Given the description of an element on the screen output the (x, y) to click on. 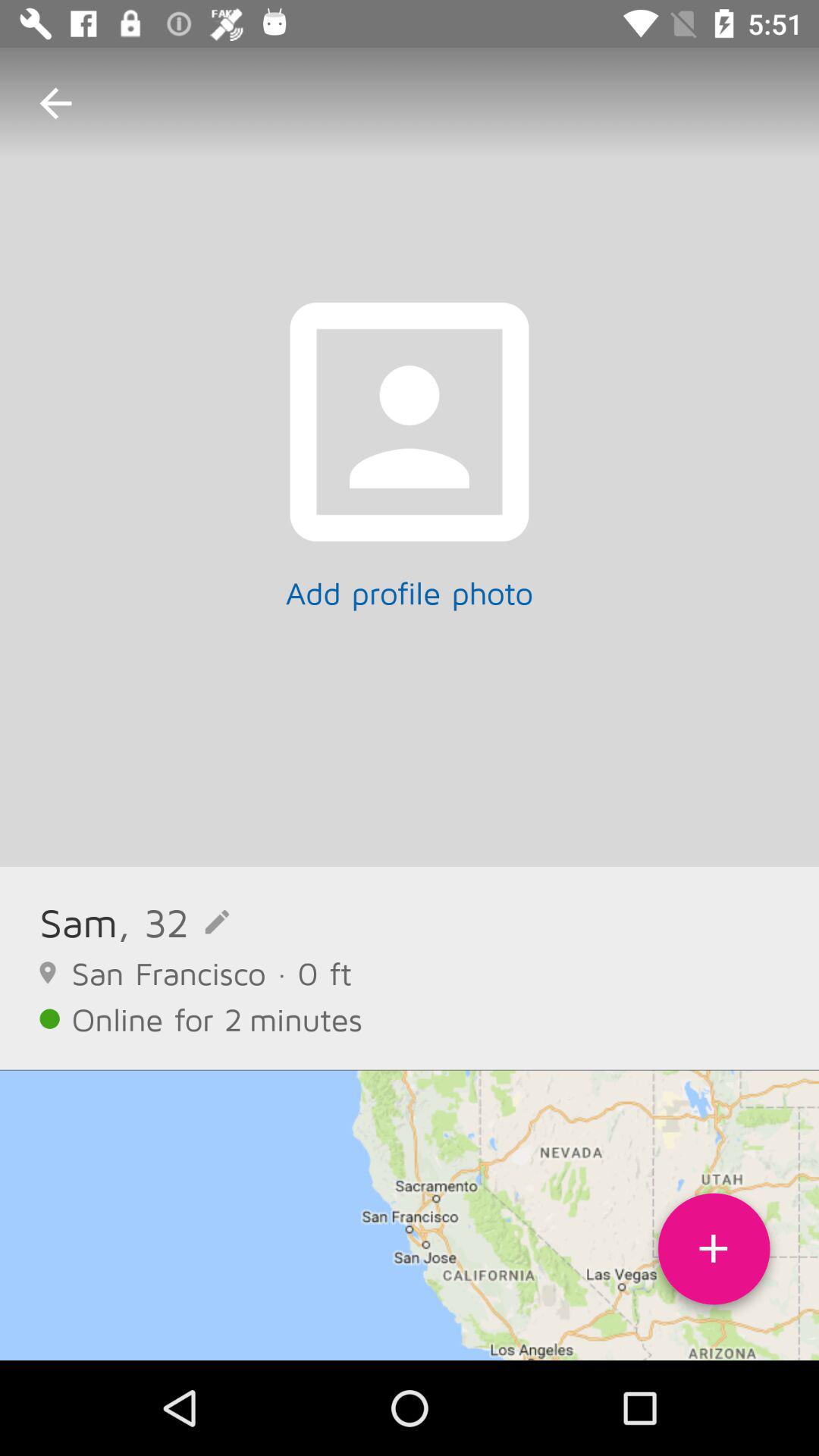
add contact (713, 1254)
